Given the description of an element on the screen output the (x, y) to click on. 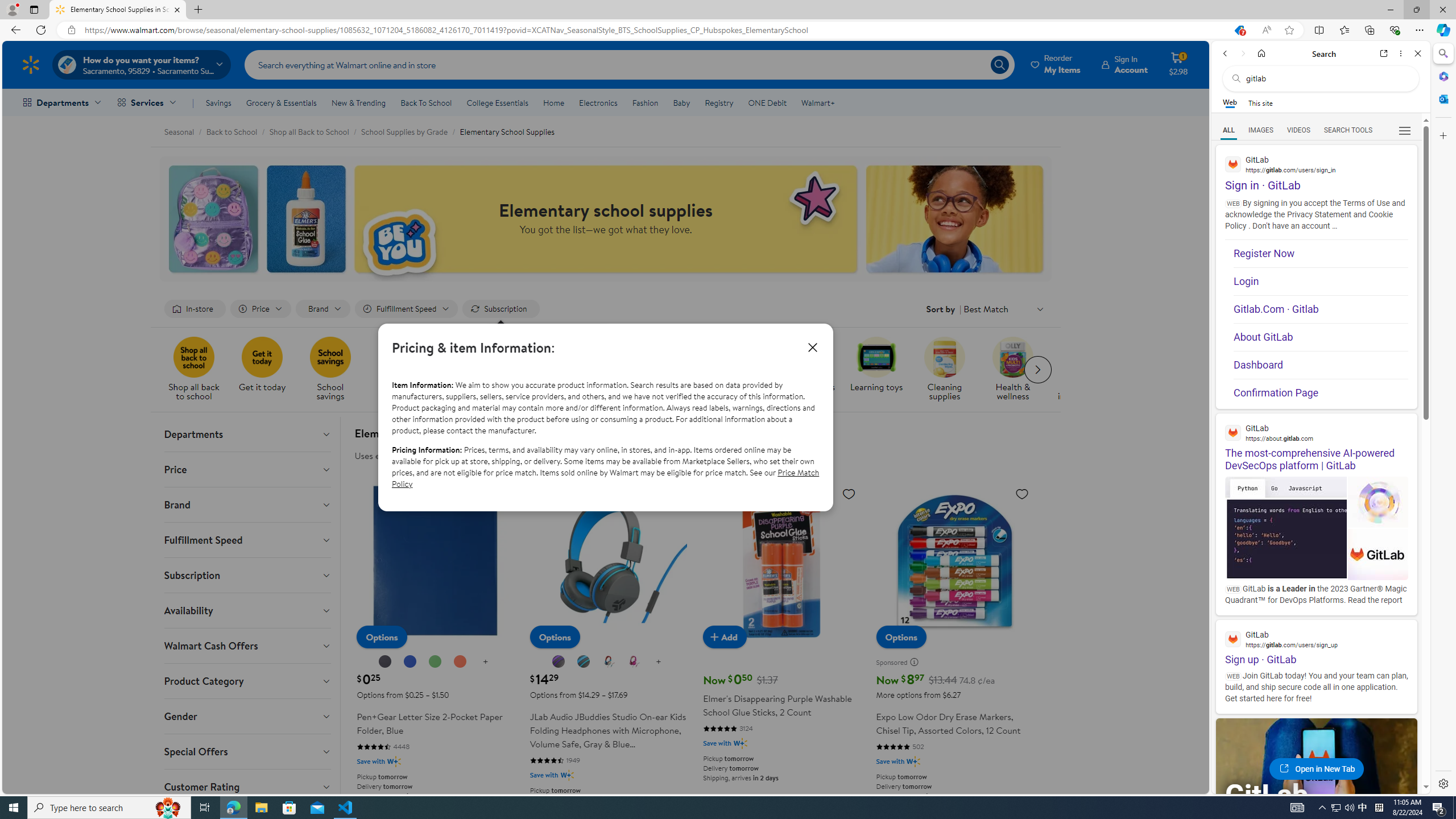
Close Search pane (1442, 53)
About GitLab (1320, 337)
Search Filter, IMAGES (1260, 129)
Forward (1242, 53)
Dashboard (1320, 364)
VIDEOS (1298, 130)
This site has coupons! Shopping in Microsoft Edge, 7 (1239, 29)
SEARCH TOOLS (1348, 130)
Web scope (1230, 102)
